Given the description of an element on the screen output the (x, y) to click on. 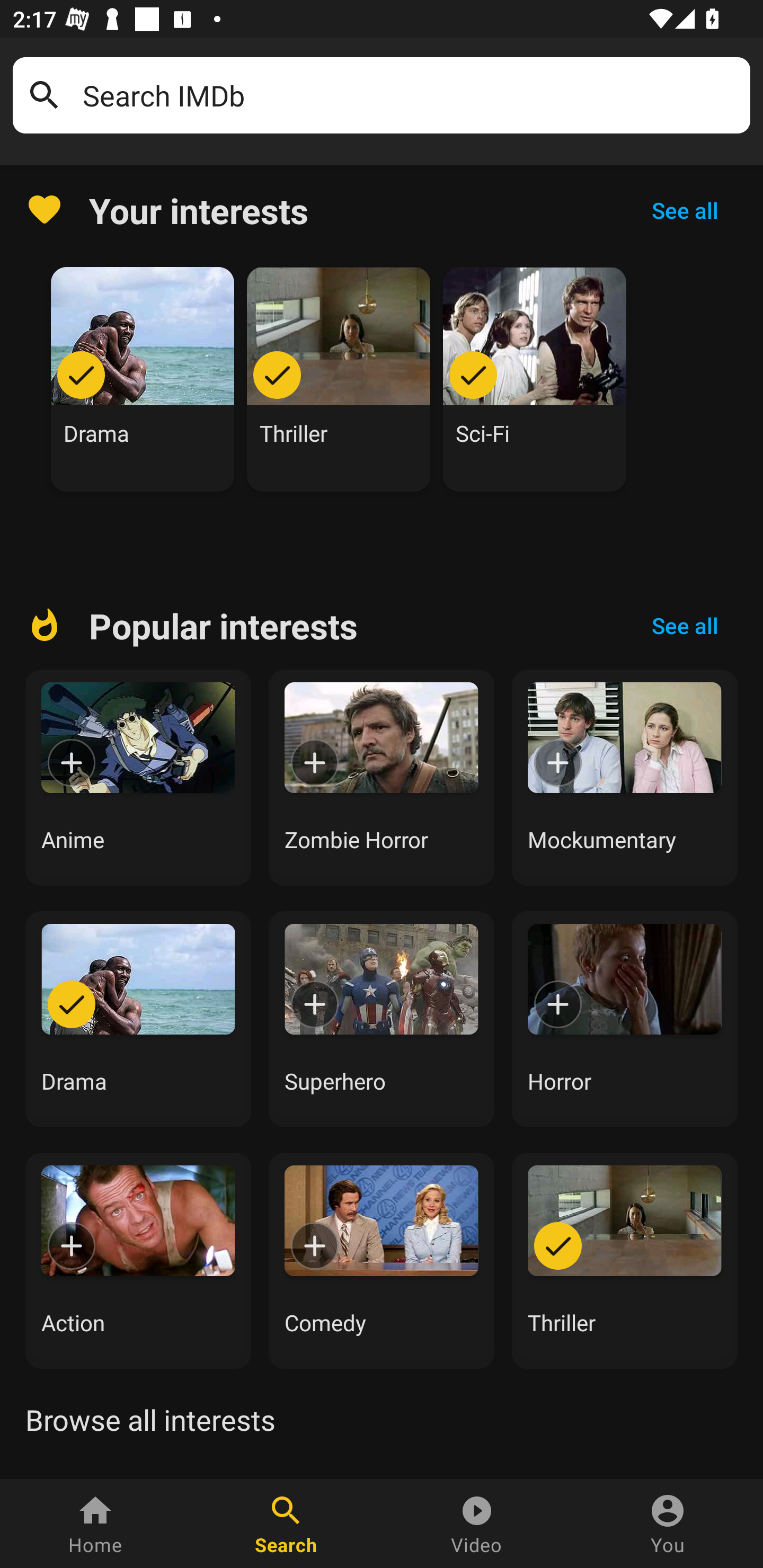
Search IMDb (410, 95)
See all (684, 209)
Drama (142, 379)
Thriller (338, 379)
Sci-Fi (534, 379)
See all (684, 625)
Anime (138, 777)
Zombie Horror (381, 777)
Mockumentary (624, 777)
Drama (138, 1018)
Superhero (381, 1018)
Horror (624, 1018)
